Given the description of an element on the screen output the (x, y) to click on. 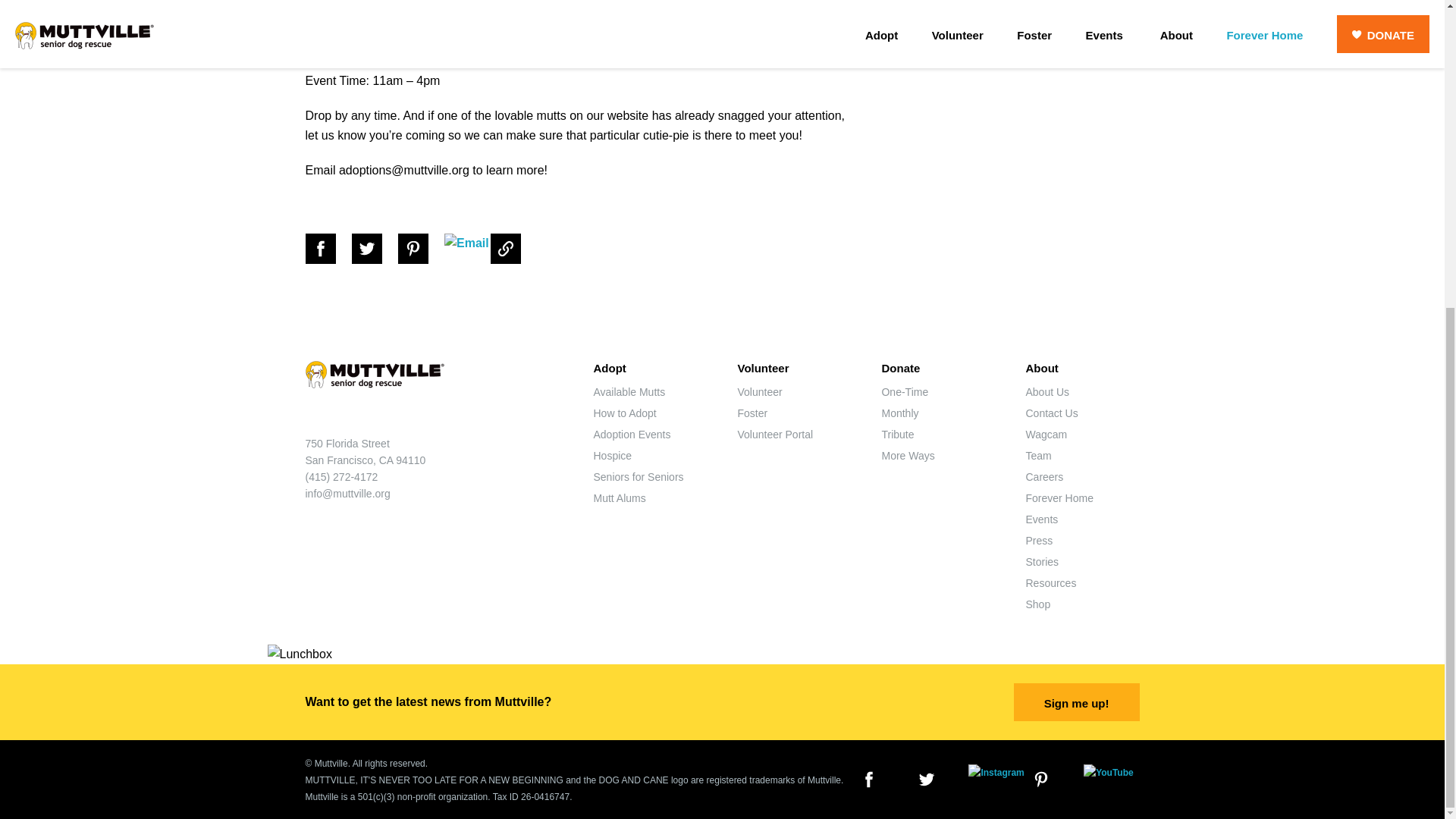
Share on Twitter (374, 248)
Permalink (512, 248)
Email to a friend (466, 248)
Share on Pinterest (419, 248)
Share on Facebook (326, 248)
